Given the description of an element on the screen output the (x, y) to click on. 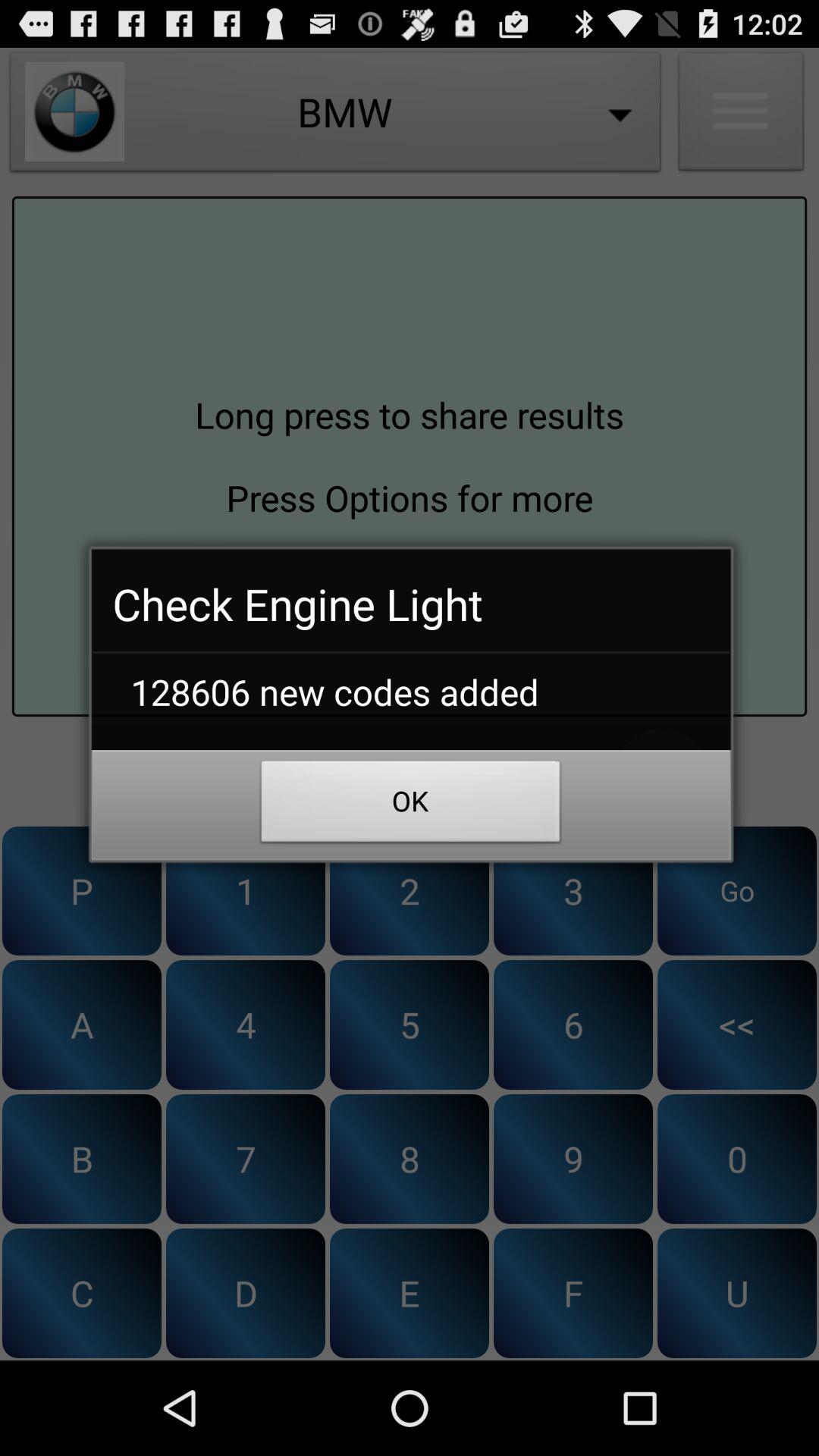
click button (409, 774)
